Given the description of an element on the screen output the (x, y) to click on. 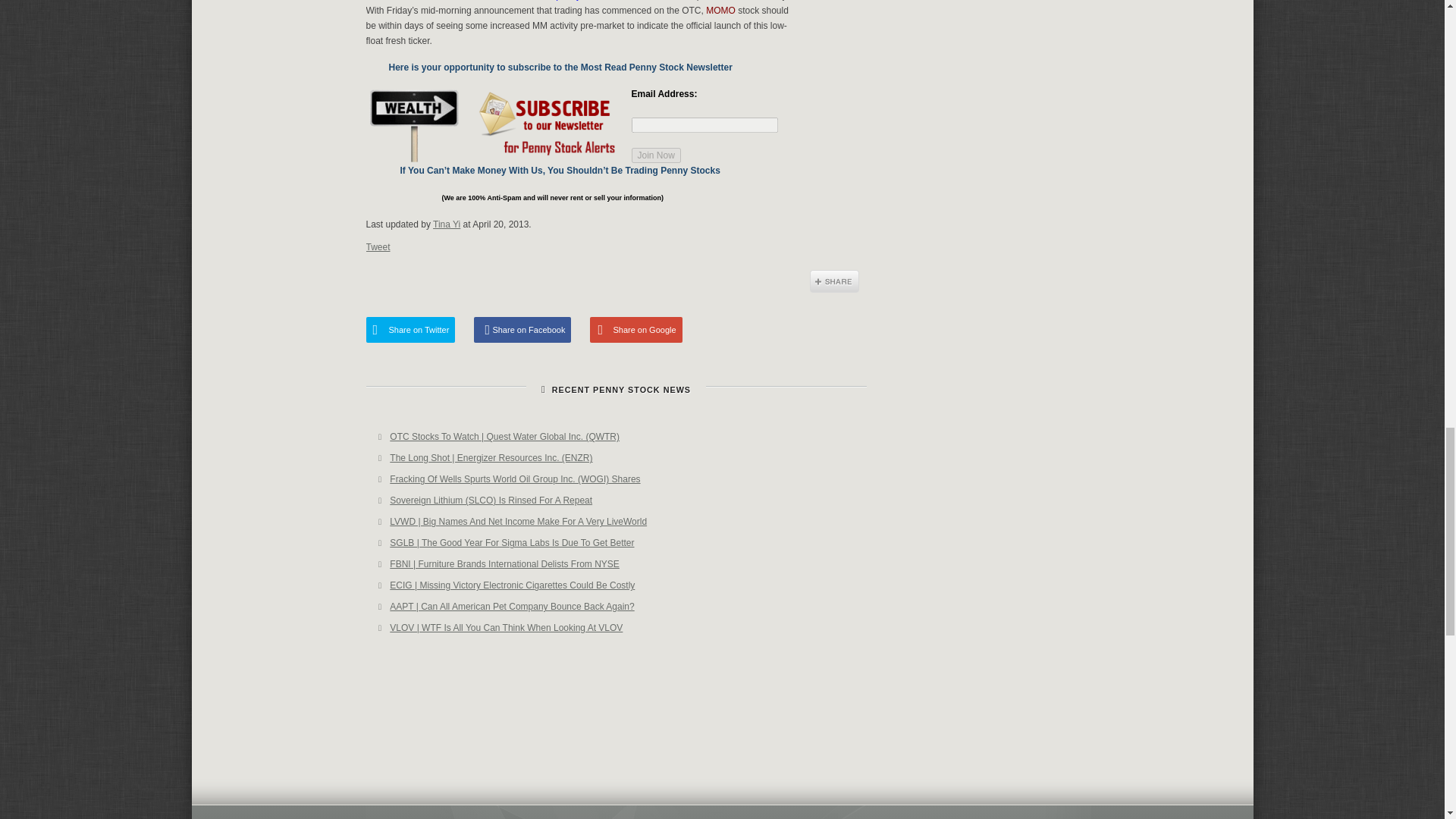
penny stocks (582, 0)
Tweet (377, 246)
Share on Google (635, 329)
Share on Twitter (409, 329)
Share (834, 281)
Tina Yi (446, 224)
Share on Facebook (522, 329)
Join Now (654, 155)
Join Now (654, 155)
